Given the description of an element on the screen output the (x, y) to click on. 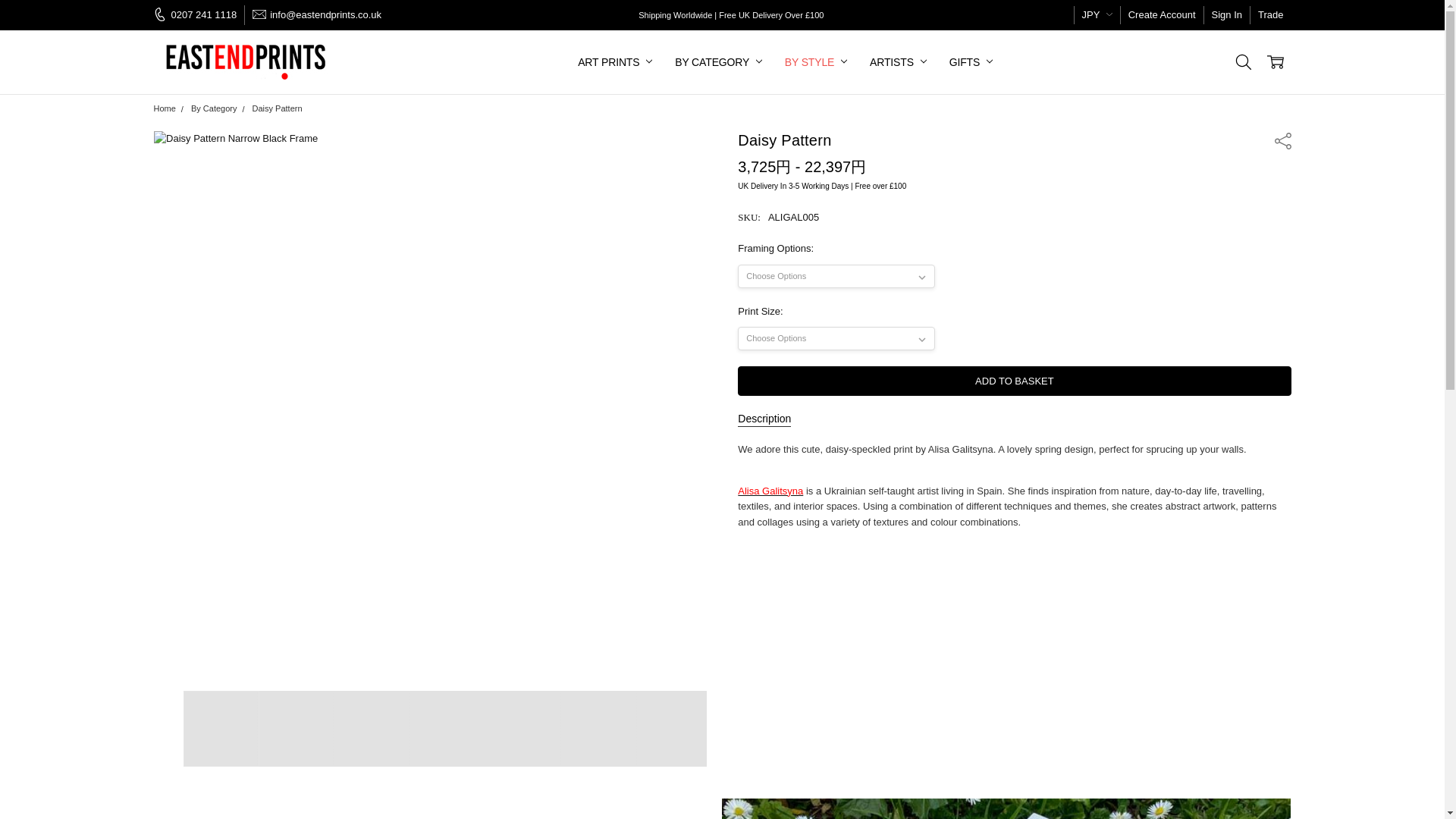
ART PRINTS (614, 62)
Daisy Pattern Wide Black Frame (372, 728)
Daisy Pattern Medium Black Frame (296, 728)
Sign In (1226, 15)
Trade (1270, 15)
BY CATEGORY (718, 62)
Daisy Pattern Wide Oak Frame (600, 728)
JPY (1096, 15)
Daisy Pattern Medium Oak Frame (524, 728)
0207 241 1118 (198, 14)
